Given the description of an element on the screen output the (x, y) to click on. 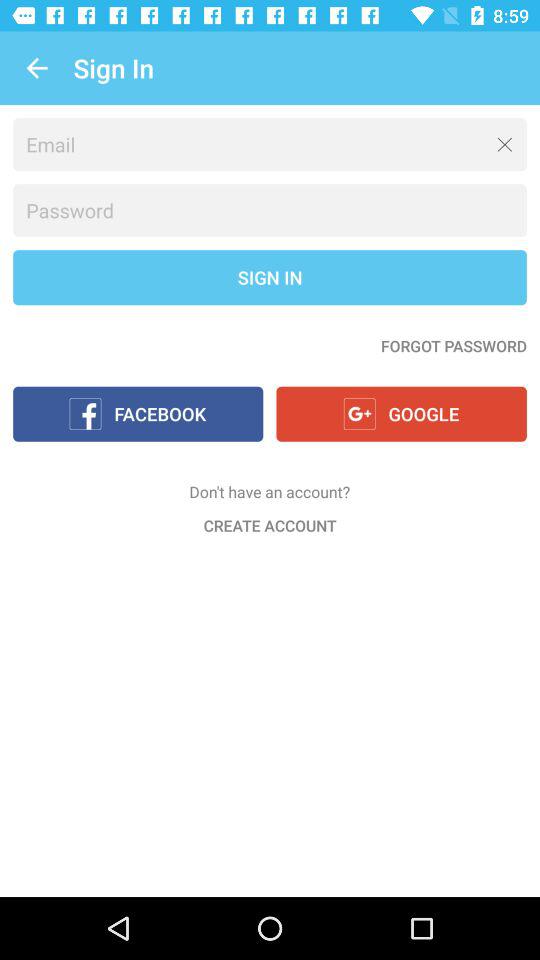
sign-in email address (269, 144)
